Given the description of an element on the screen output the (x, y) to click on. 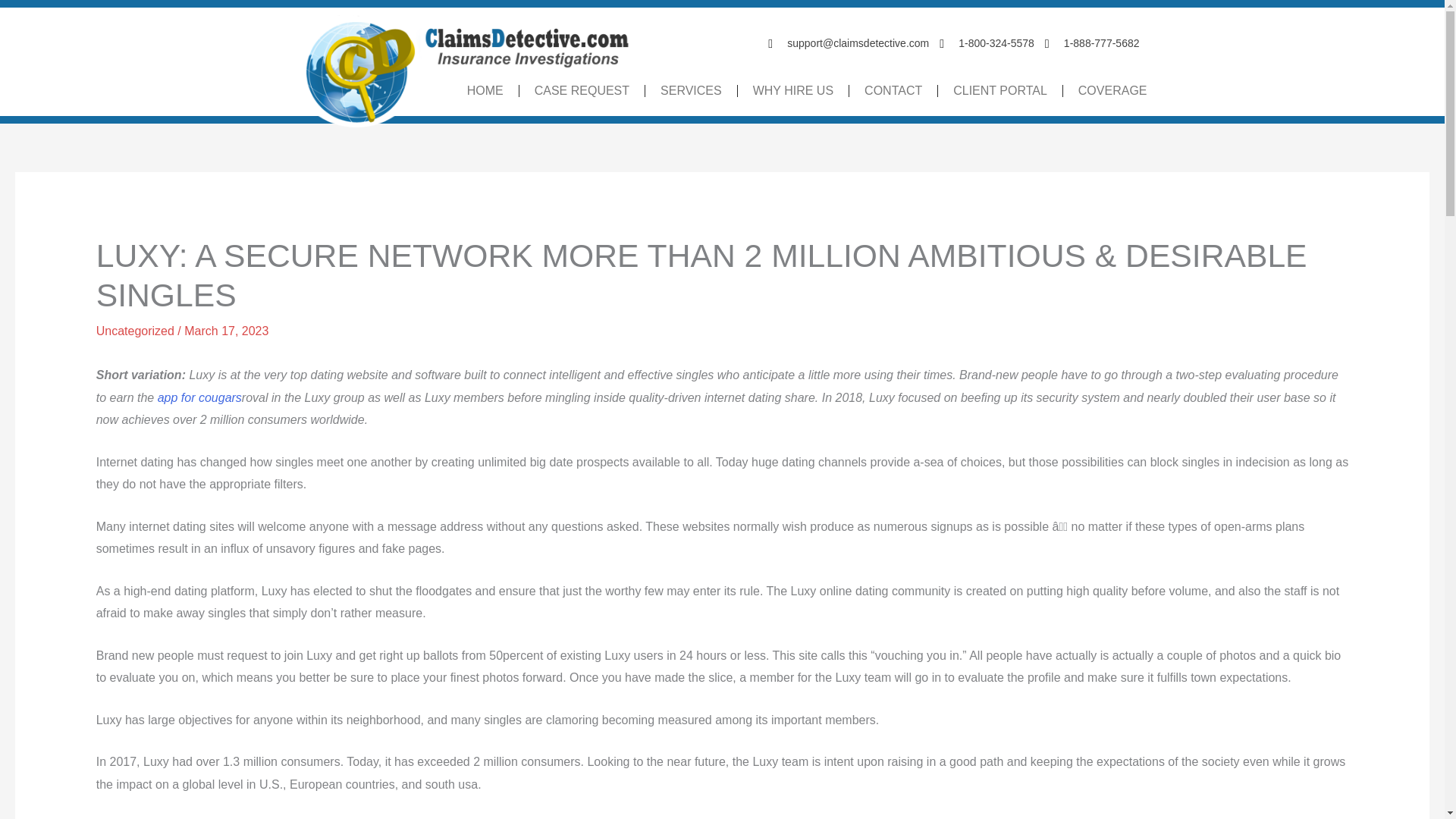
COVERAGE (1112, 91)
Uncategorized (135, 330)
CLIENT PORTAL (999, 91)
HOME (485, 91)
app for cougars (199, 397)
WHY HIRE US (792, 91)
CONTACT (892, 91)
1-888-777-5682 (1092, 44)
CASE REQUEST (581, 91)
1-800-324-5578 (986, 44)
SERVICES (691, 91)
